Given the description of an element on the screen output the (x, y) to click on. 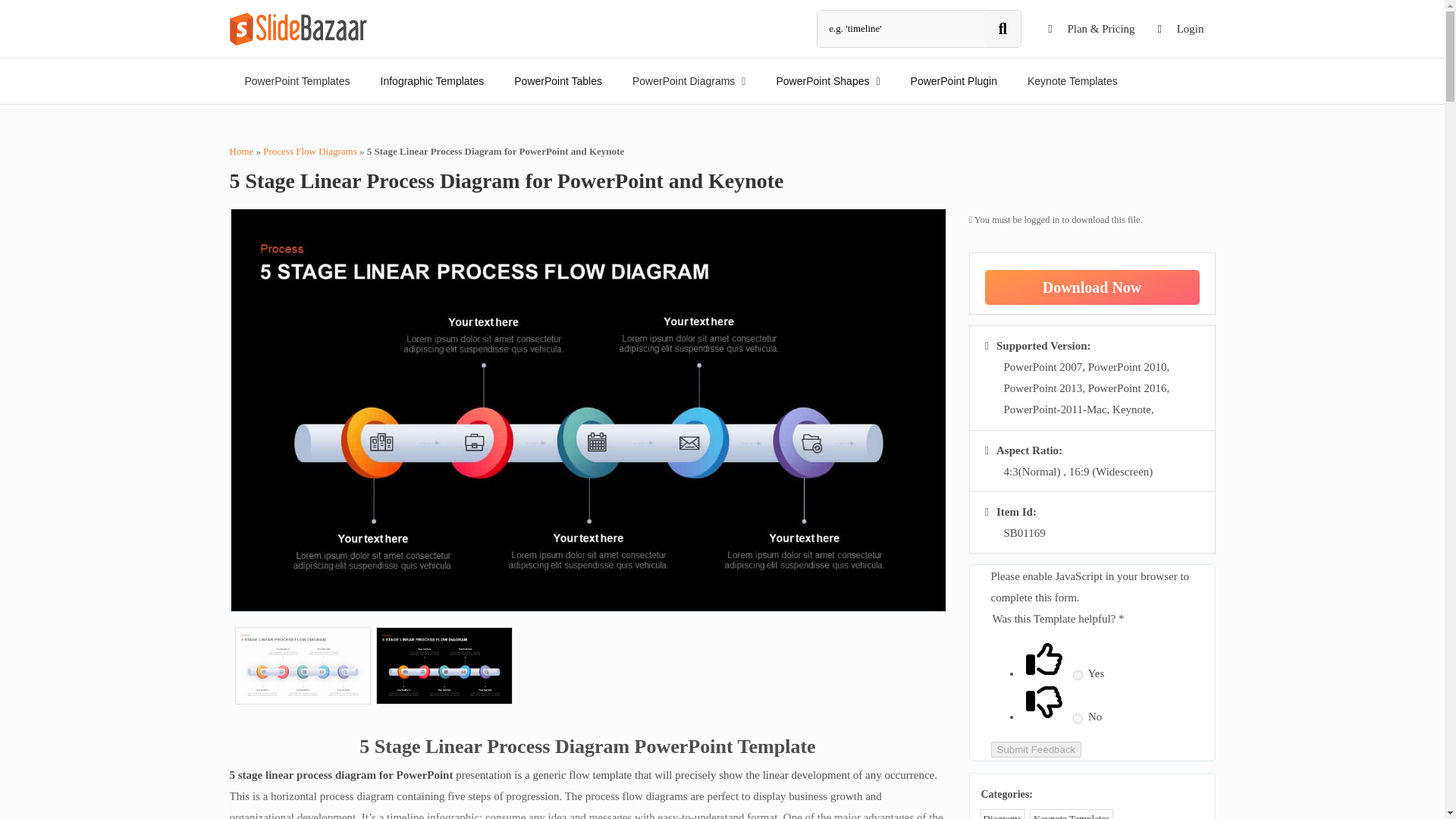
Keynote Templates (1071, 81)
No (1078, 718)
PowerPoint Templates (296, 81)
PowerPoint Tables (558, 81)
PowerPoint Shapes (827, 81)
PowerPoint Plugin (953, 81)
Login (1181, 28)
Yes (1078, 675)
PowerPoint Diagrams (689, 81)
Infographic Templates (432, 81)
